Given the description of an element on the screen output the (x, y) to click on. 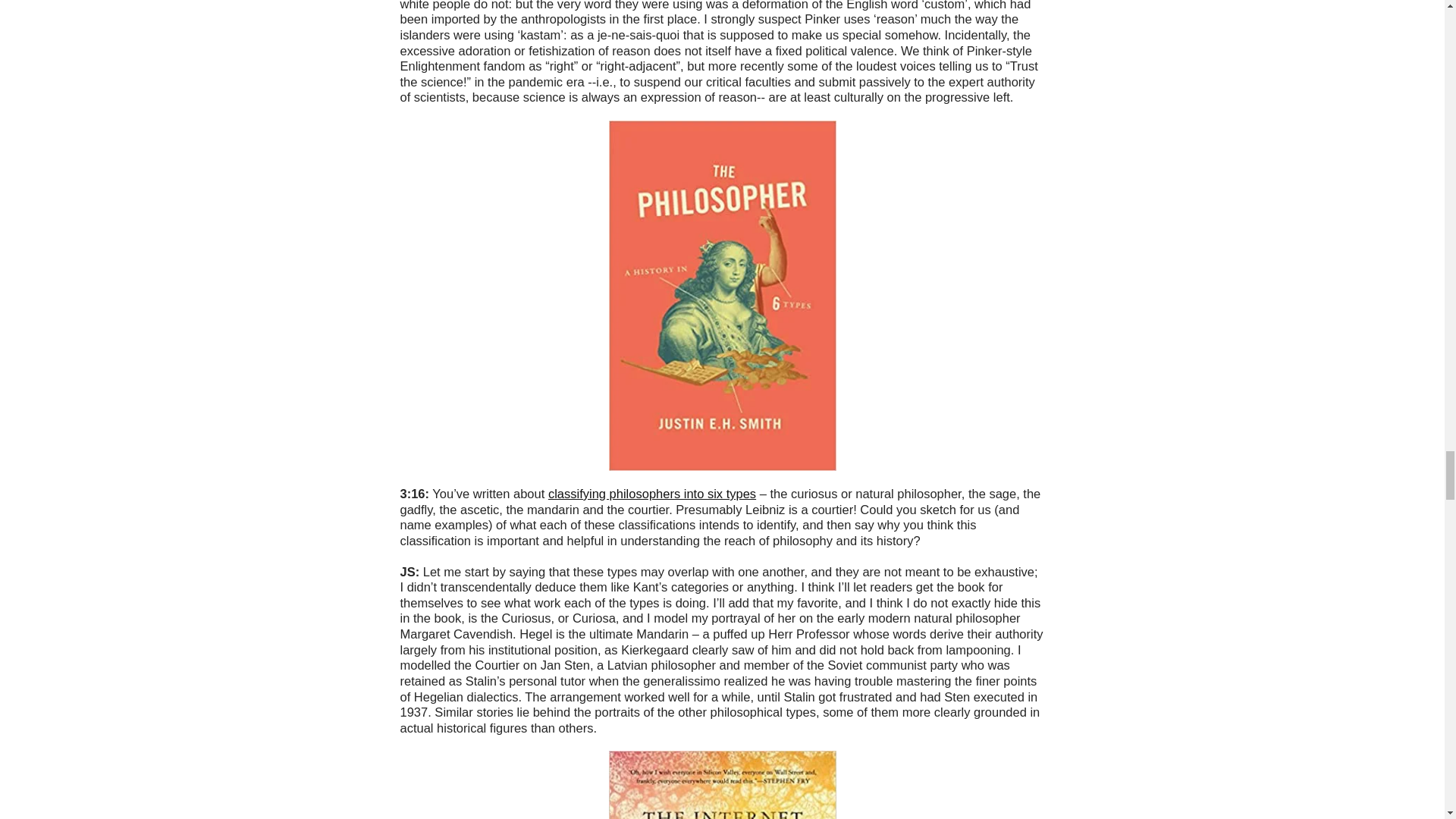
classifying philosophers into six types (651, 493)
